Given the description of an element on the screen output the (x, y) to click on. 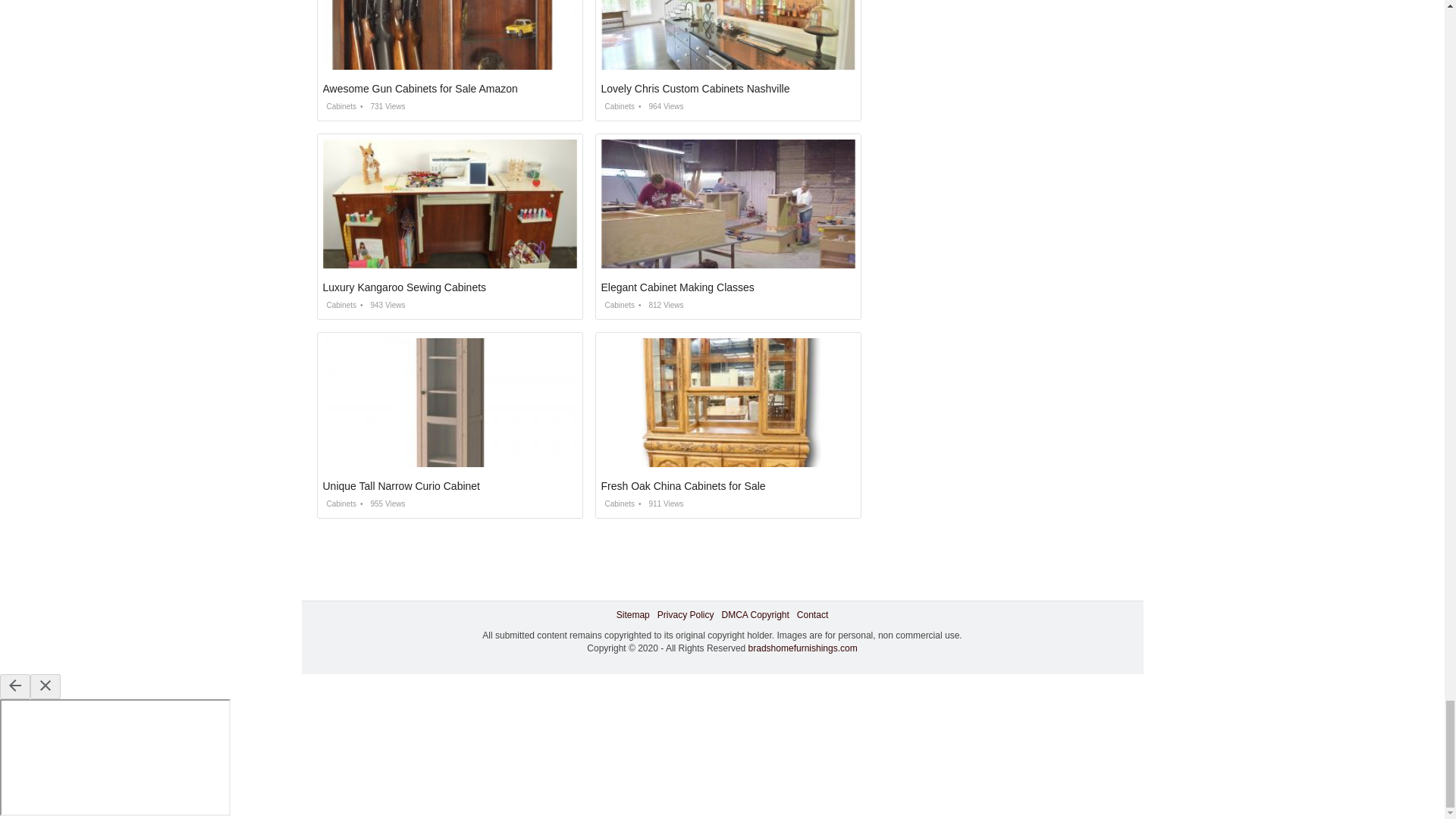
Lovely Chris Custom Cabinets Nashville (694, 88)
Cabinets (339, 305)
Awesome Gun Cabinets for Sale Amazon (420, 88)
Unique Tall Narrow Curio Cabinet (401, 485)
Cabinets (339, 502)
Elegant Cabinet Making Classes (676, 287)
Luxury Kangaroo Sewing Cabinets (404, 287)
Cabinets (339, 106)
Cabinets (616, 106)
Cabinets (616, 305)
